Given the description of an element on the screen output the (x, y) to click on. 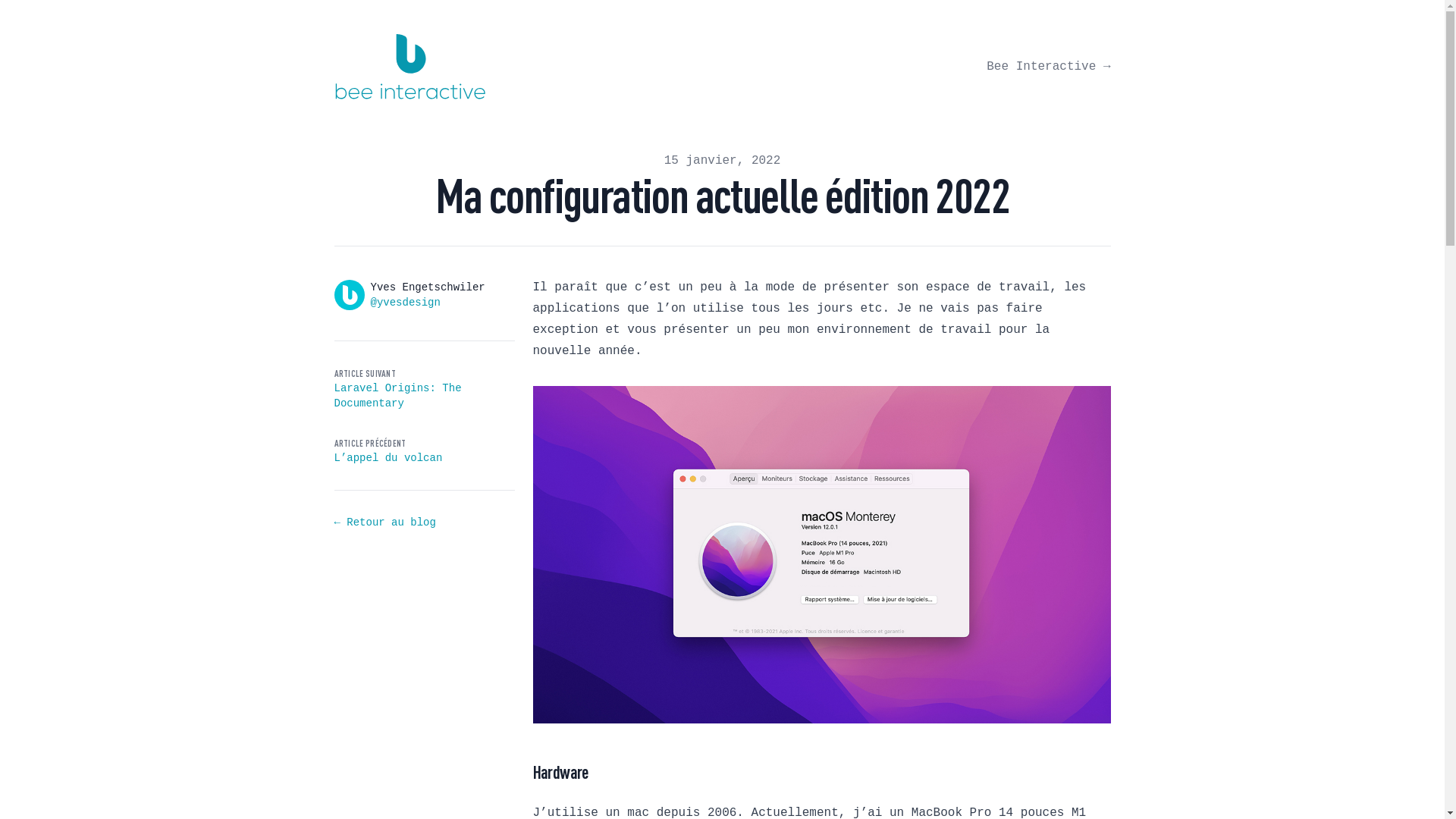
@yvesdesign Element type: text (404, 302)
Laravel Origins: The Documentary Element type: text (397, 395)
